Given the description of an element on the screen output the (x, y) to click on. 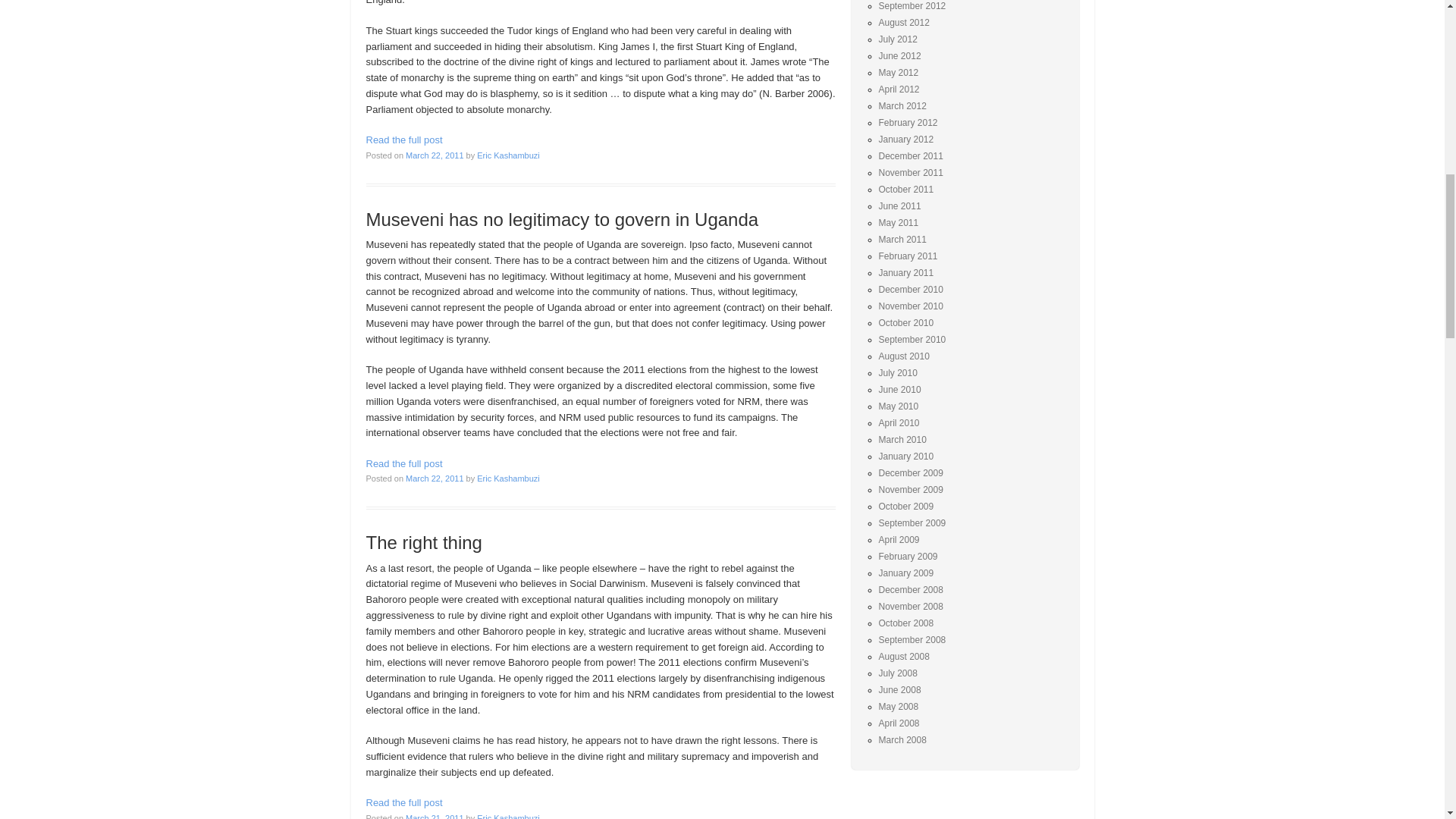
March 21, 2011 (434, 816)
Eric Kashambuzi (508, 154)
Permanent Link: The right thing (403, 802)
8:56 PM (434, 154)
View all posts by Eric Kashambuzi (508, 154)
The right thing (423, 542)
View all posts by Eric Kashambuzi (508, 816)
Read the full post (403, 463)
View all posts by Eric Kashambuzi (508, 478)
5:25 PM (434, 816)
Permalink to Museveni has no legitimacy to govern in Uganda (561, 219)
Permalink to The right thing (423, 542)
March 22, 2011 (434, 478)
Eric Kashambuzi (508, 478)
